Given the description of an element on the screen output the (x, y) to click on. 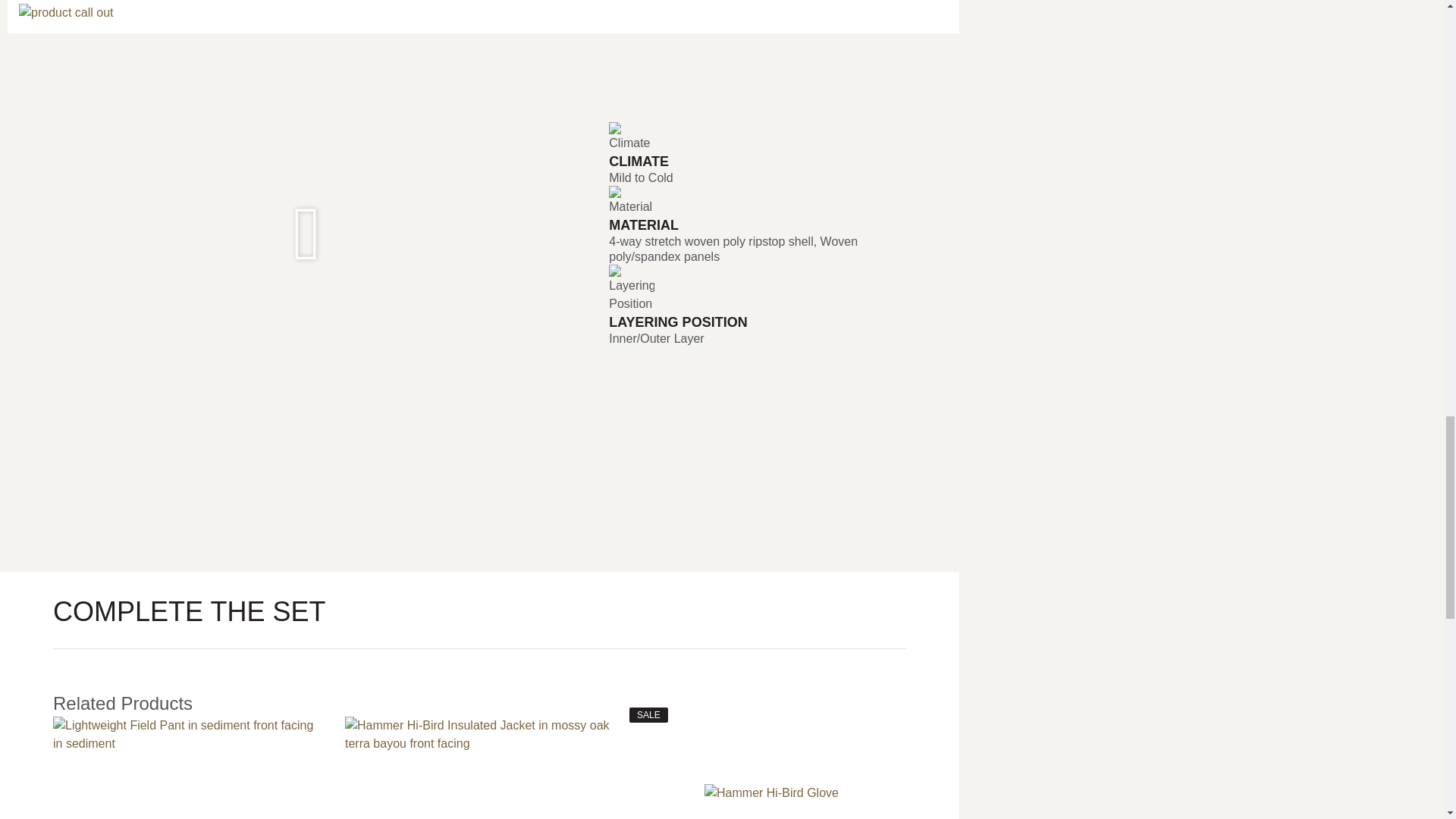
Hammer Hi-Bird Glove (771, 766)
Lightweight Field Pant (186, 766)
Hammer Hi-Bird Insulated Jacket (479, 766)
